Given the description of an element on the screen output the (x, y) to click on. 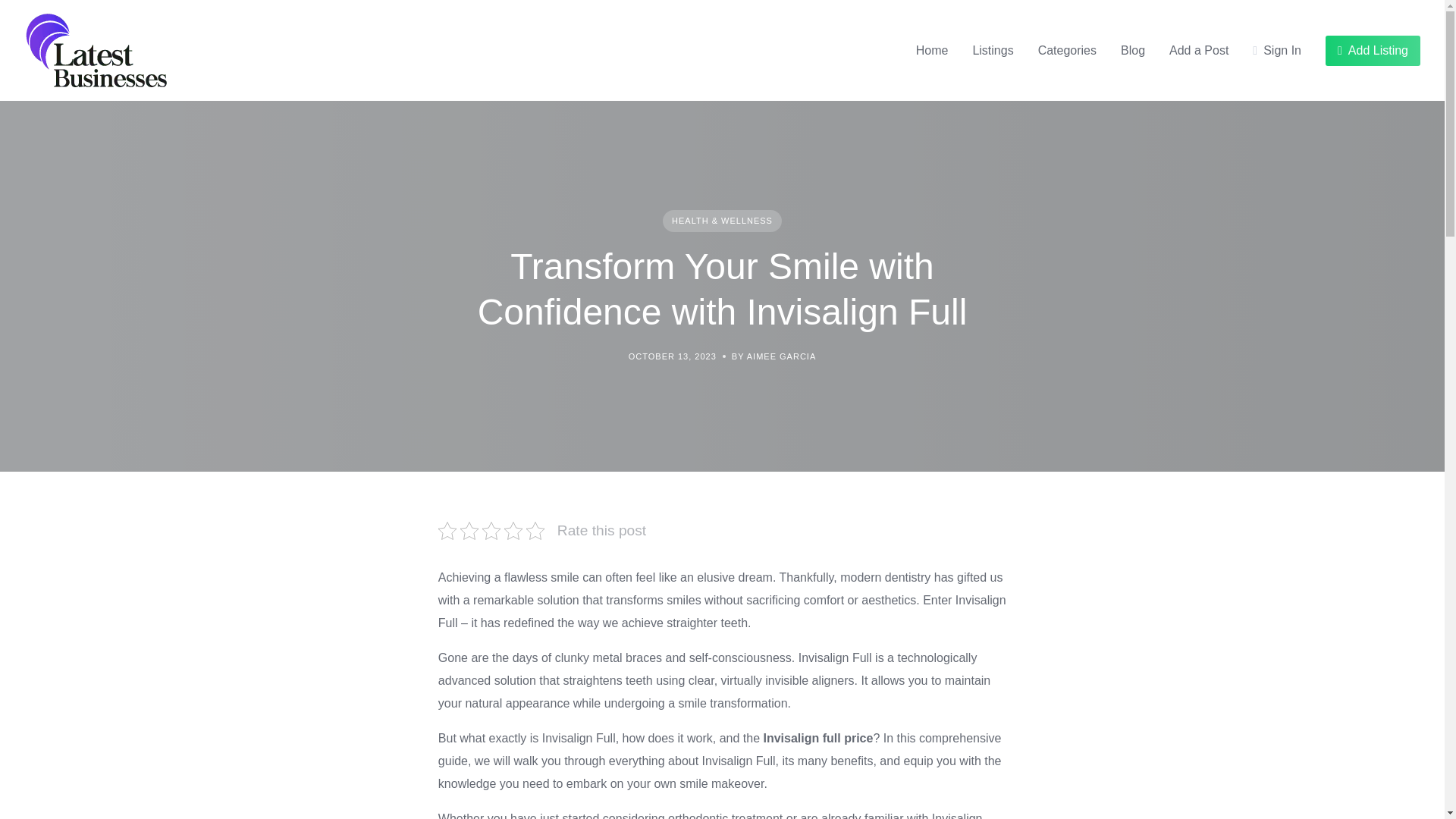
Sign In (1276, 49)
Categories (1067, 49)
Blog (1132, 49)
Home (932, 49)
Add Listing (1372, 50)
Add a Post (1198, 49)
Listings (992, 49)
